Given the description of an element on the screen output the (x, y) to click on. 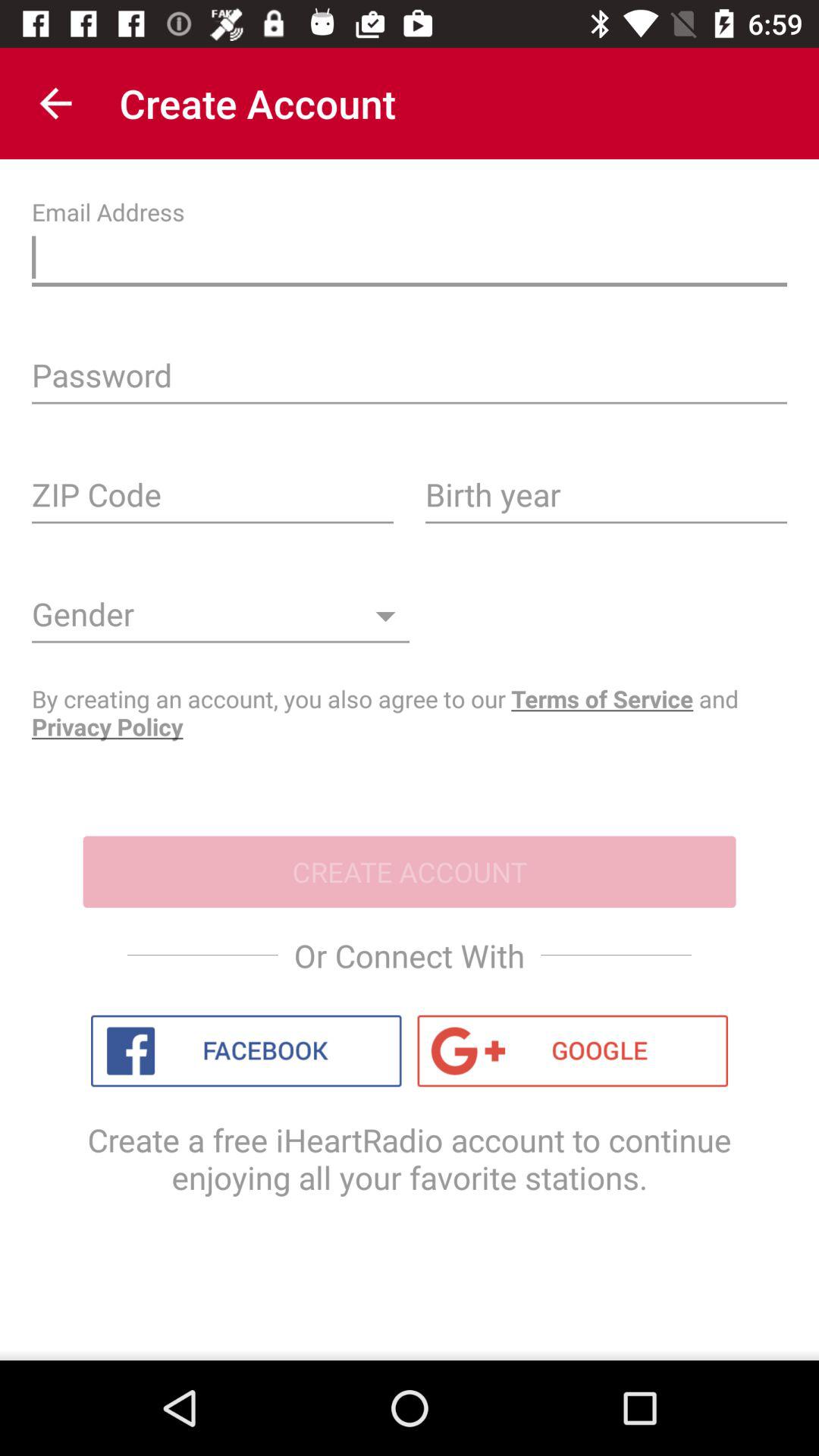
open google+ (572, 1050)
